Given the description of an element on the screen output the (x, y) to click on. 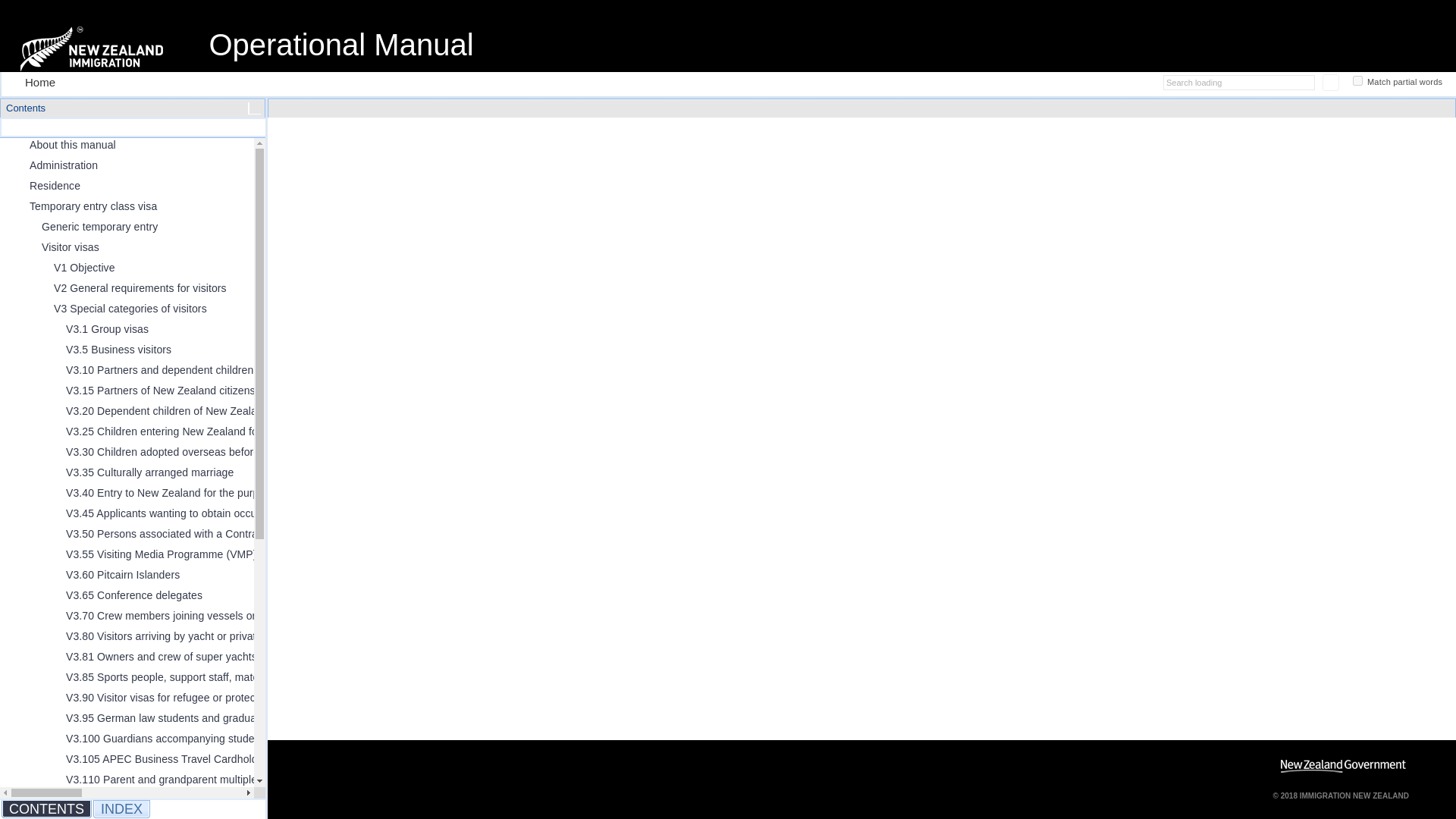
Print this page (1141, 82)
Email this page (1110, 82)
Home (34, 82)
on (1357, 80)
CONTENTS (46, 809)
Search (1330, 82)
Expand All (255, 126)
